Given the description of an element on the screen output the (x, y) to click on. 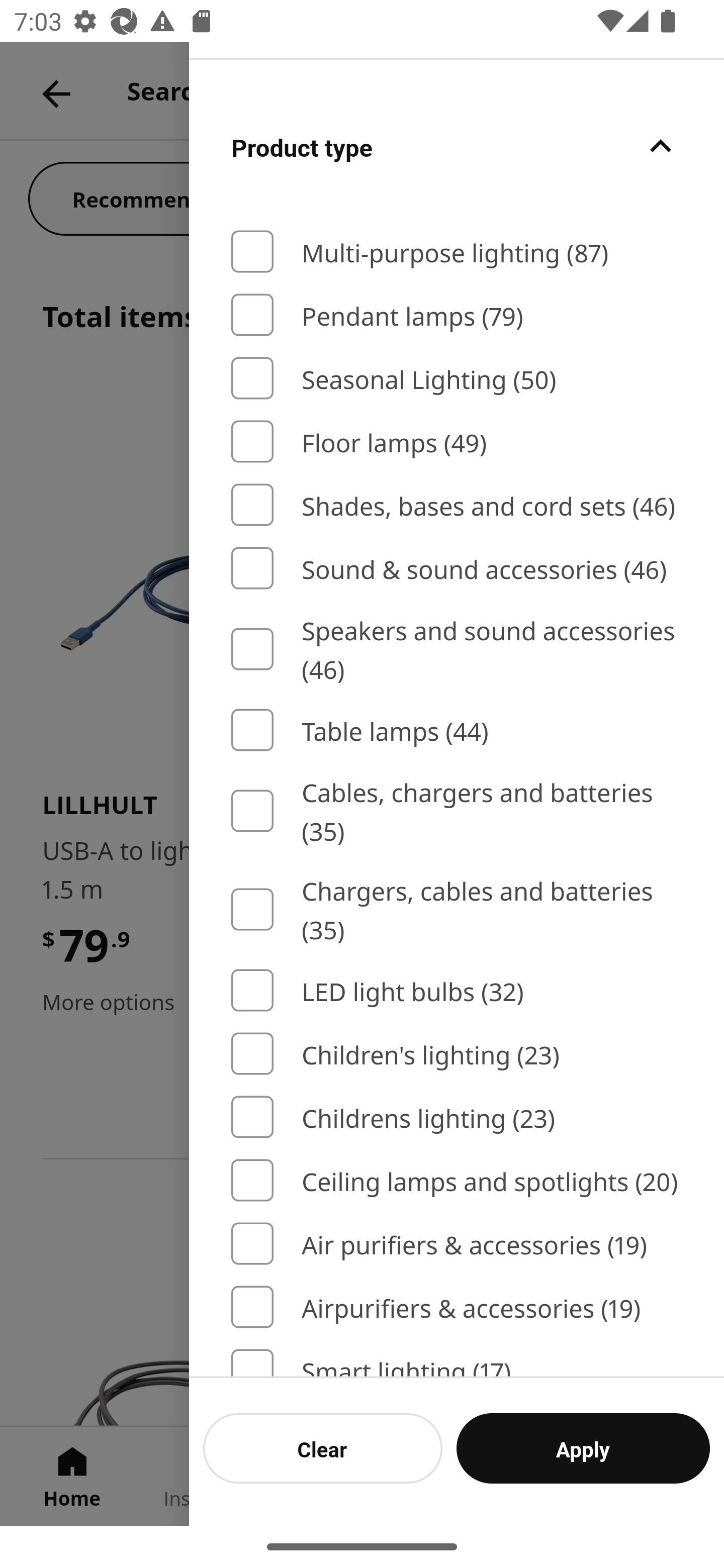
Product type (456, 145)
Multi-purpose lighting (87) (456, 251)
Pendant lamps (79) (456, 314)
Seasonal Lighting (50) (456, 378)
Floor lamps (49) (456, 441)
Shades, bases and cord sets (46) (456, 505)
Sound & sound accessories (46) (456, 568)
Speakers and sound accessories (46) (456, 648)
Table lamps (44) (456, 729)
Cables, chargers and batteries (35) (456, 811)
Chargers, cables and batteries (35) (456, 909)
LED light bulbs (32) (456, 990)
Children's lighting (23) (456, 1054)
Childrens lighting (23) (456, 1117)
Ceiling lamps and spotlights (20) (456, 1179)
Air purifiers & accessories (19) (456, 1244)
Airpurifiers & accessories (19) (456, 1306)
Clear (322, 1447)
Apply (583, 1447)
